Given the description of an element on the screen output the (x, y) to click on. 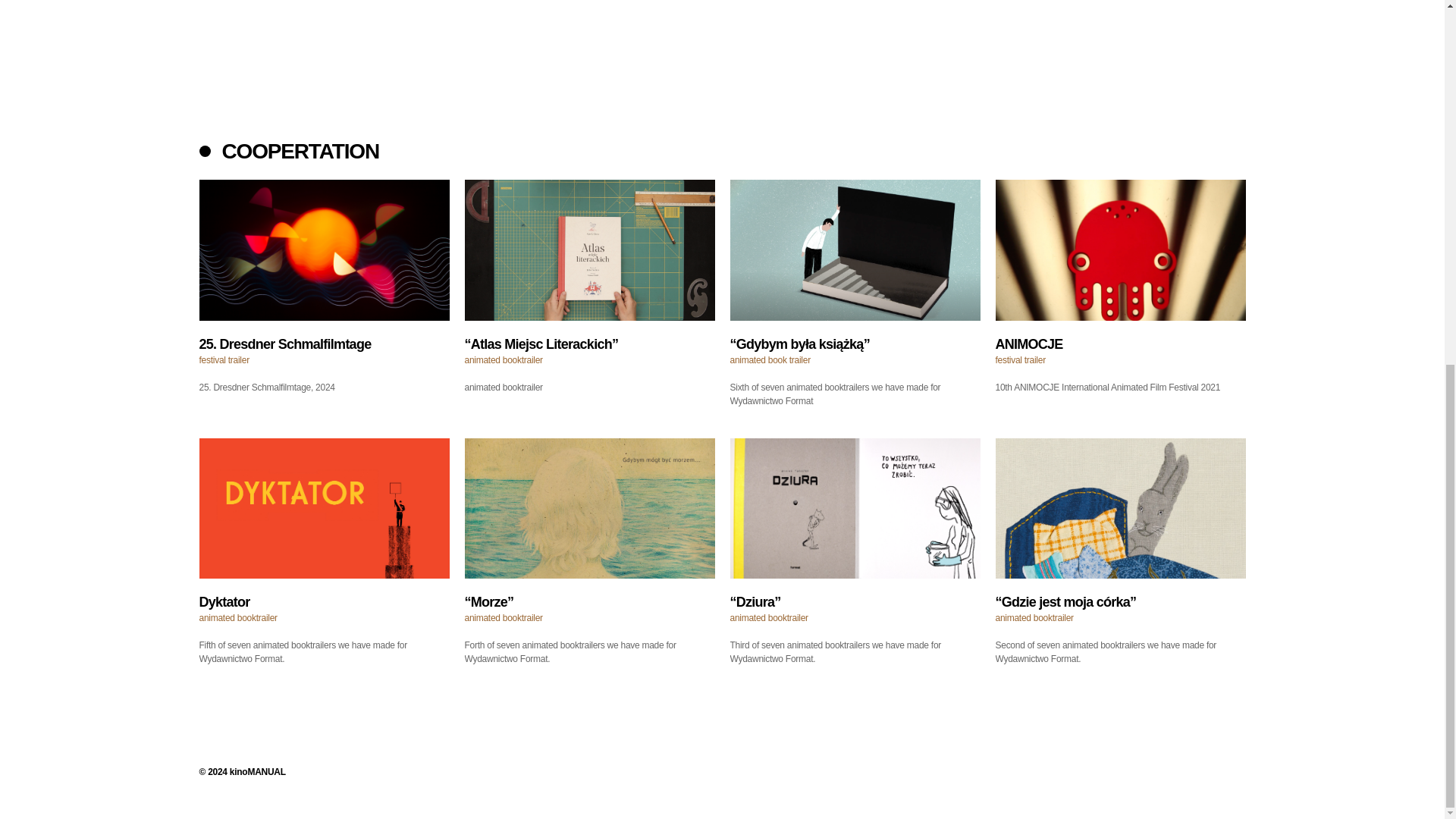
kinoMANUAL (257, 771)
